Given the description of an element on the screen output the (x, y) to click on. 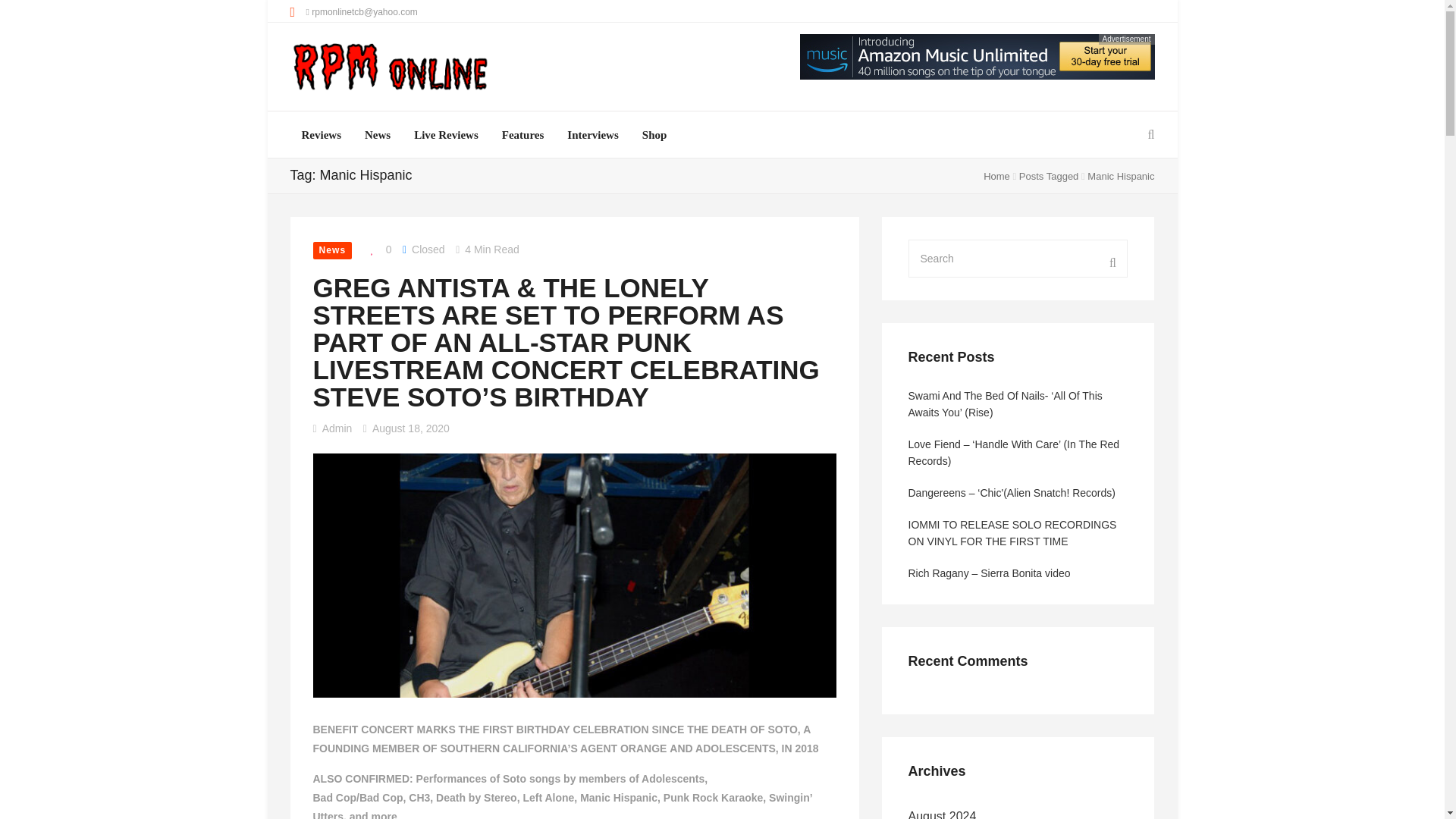
Live Reviews (446, 135)
Interviews (592, 135)
Live Reviews (446, 135)
RPM Online (389, 68)
Like this (376, 249)
Features (523, 135)
